Given the description of an element on the screen output the (x, y) to click on. 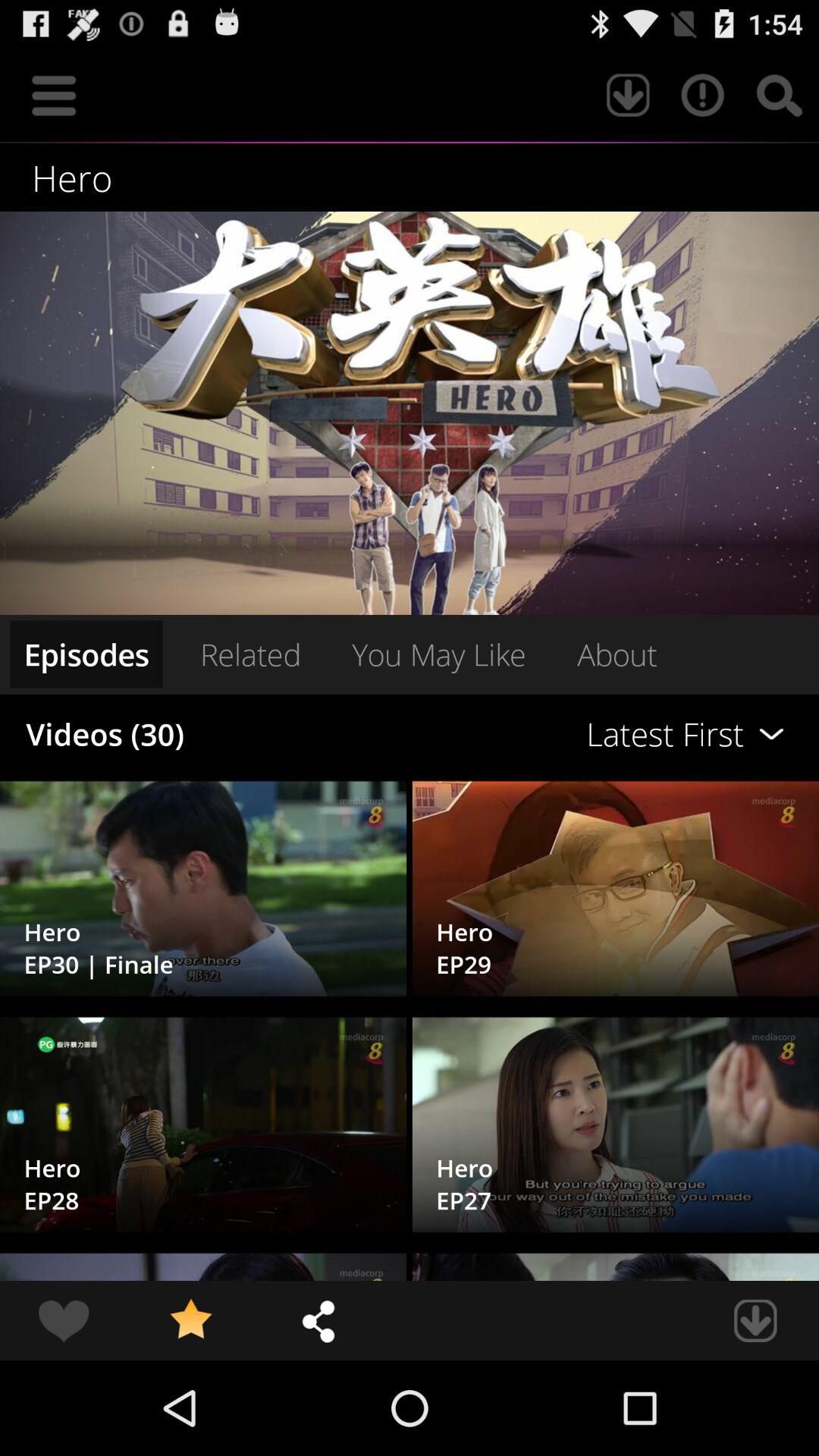
launch icon at the center (438, 654)
